Given the description of an element on the screen output the (x, y) to click on. 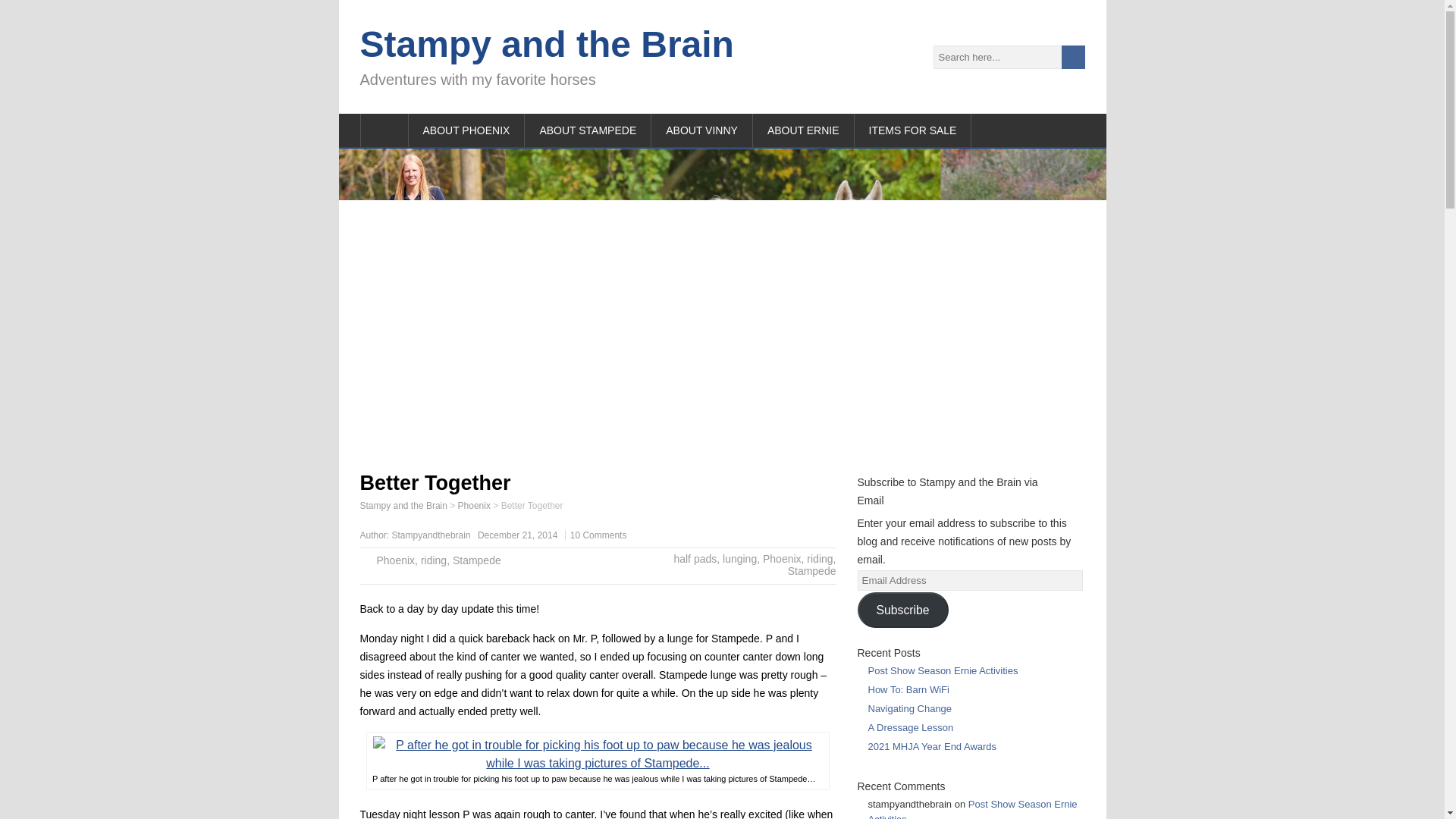
ITEMS FOR SALE (913, 130)
Phoenix (394, 560)
Phoenix (474, 505)
Phoenix (782, 558)
Go to Stampy and the Brain. (402, 505)
10 Comments (598, 534)
ABOUT VINNY (701, 130)
Go to the Phoenix Category archives. (474, 505)
Stampede (811, 571)
Stampede (476, 560)
